Given the description of an element on the screen output the (x, y) to click on. 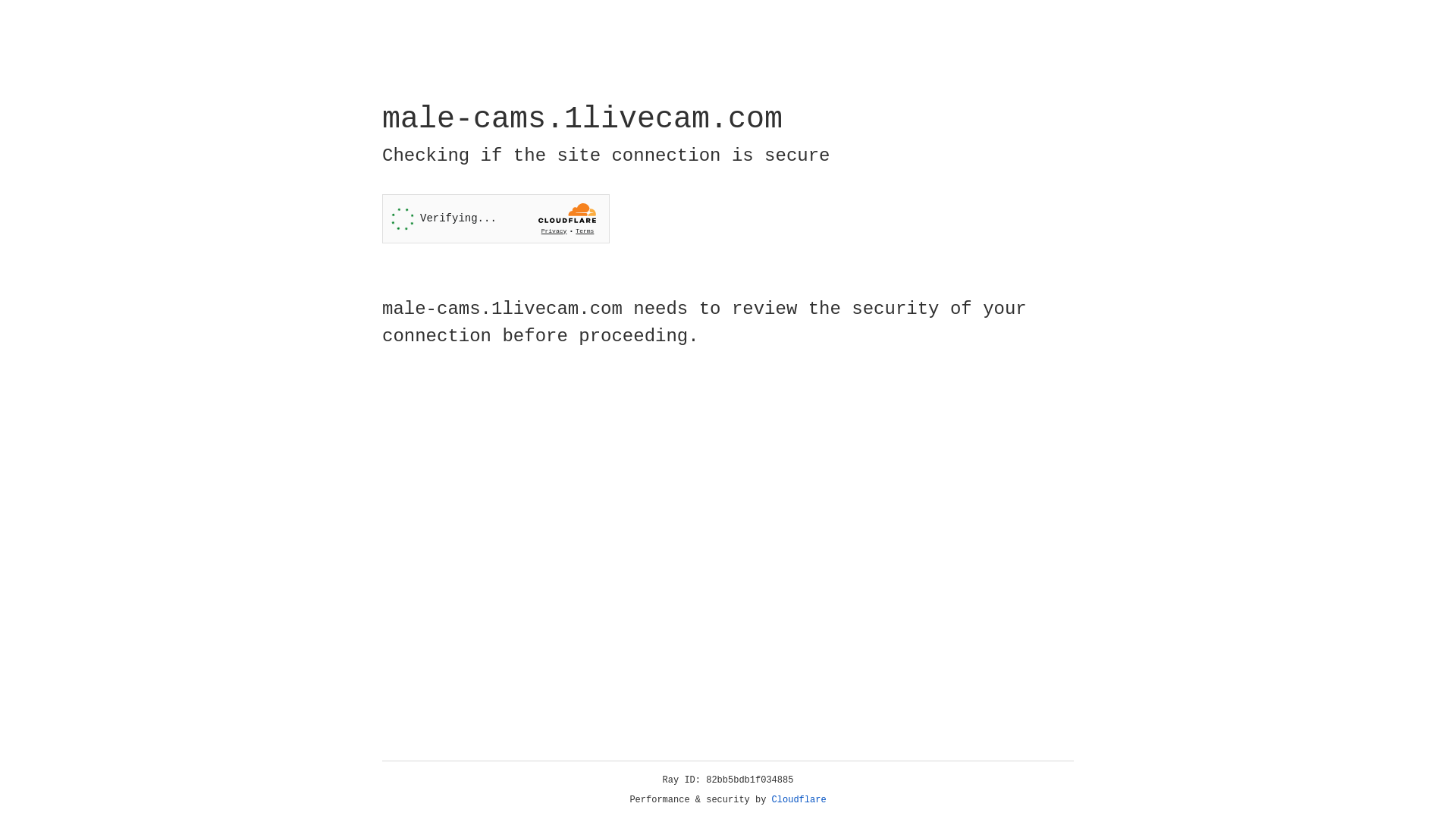
Cloudflare Element type: text (798, 799)
Widget containing a Cloudflare security challenge Element type: hover (495, 218)
